Given the description of an element on the screen output the (x, y) to click on. 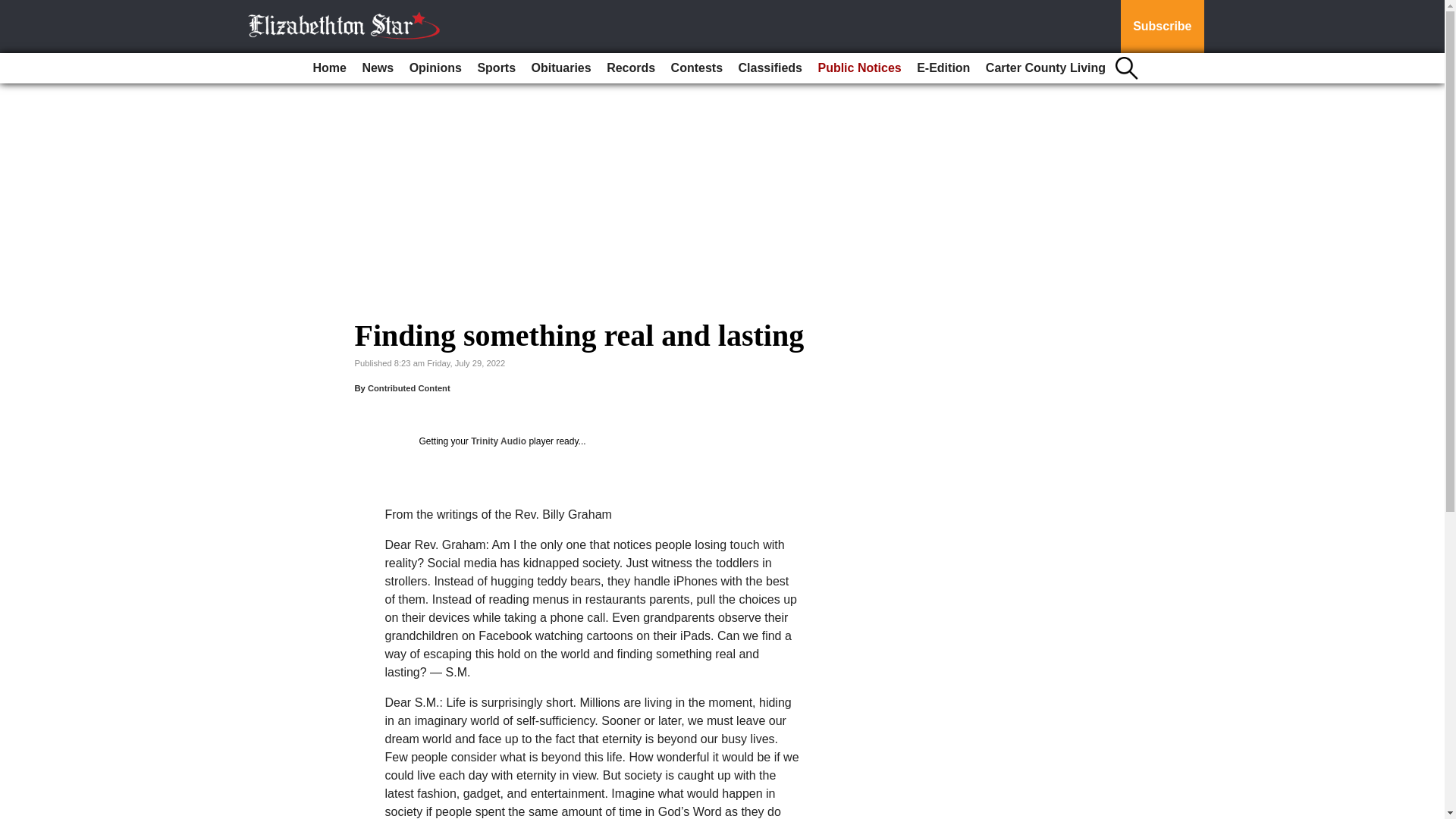
Contests (697, 68)
Subscribe (1162, 26)
Trinity Audio (497, 440)
Home (328, 68)
Opinions (435, 68)
E-Edition (943, 68)
Carter County Living (1045, 68)
Sports (495, 68)
Obituaries (560, 68)
News (376, 68)
